Given the description of an element on the screen output the (x, y) to click on. 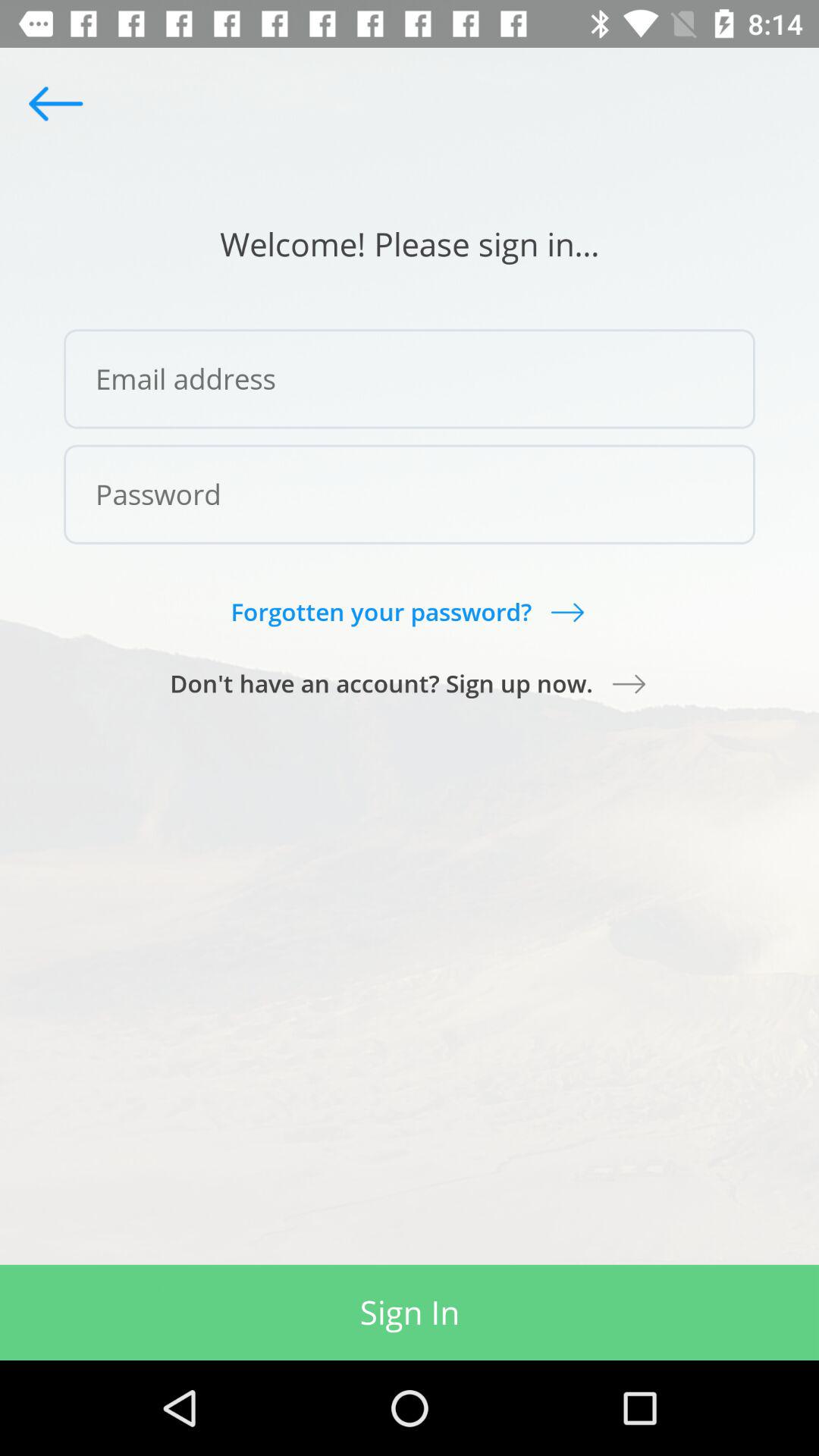
flip to forgotten your password? icon (408, 611)
